Given the description of an element on the screen output the (x, y) to click on. 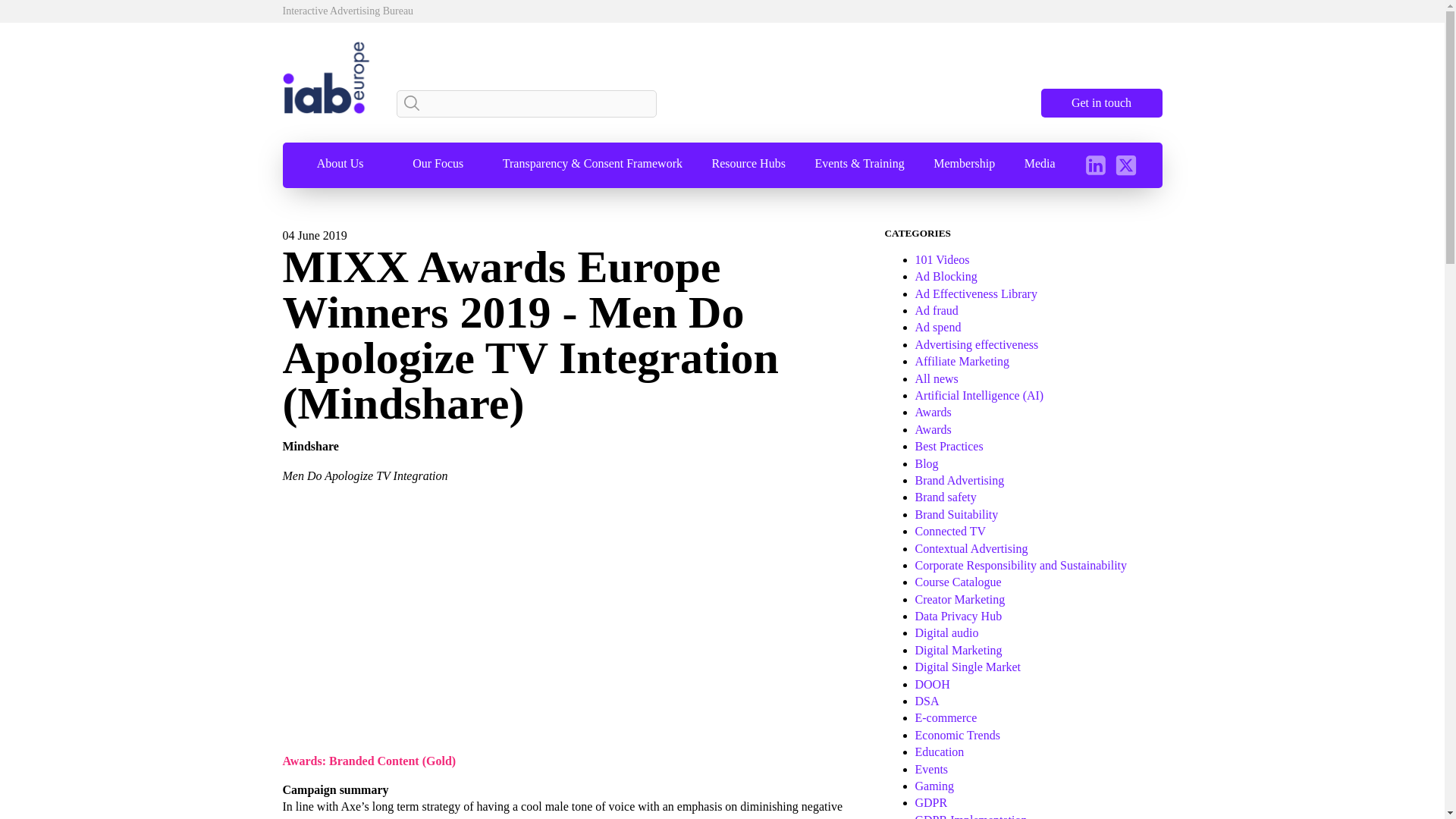
Search (408, 103)
Get in touch (1101, 102)
About Us (339, 163)
Our Focus (437, 163)
Search (408, 103)
